Given the description of an element on the screen output the (x, y) to click on. 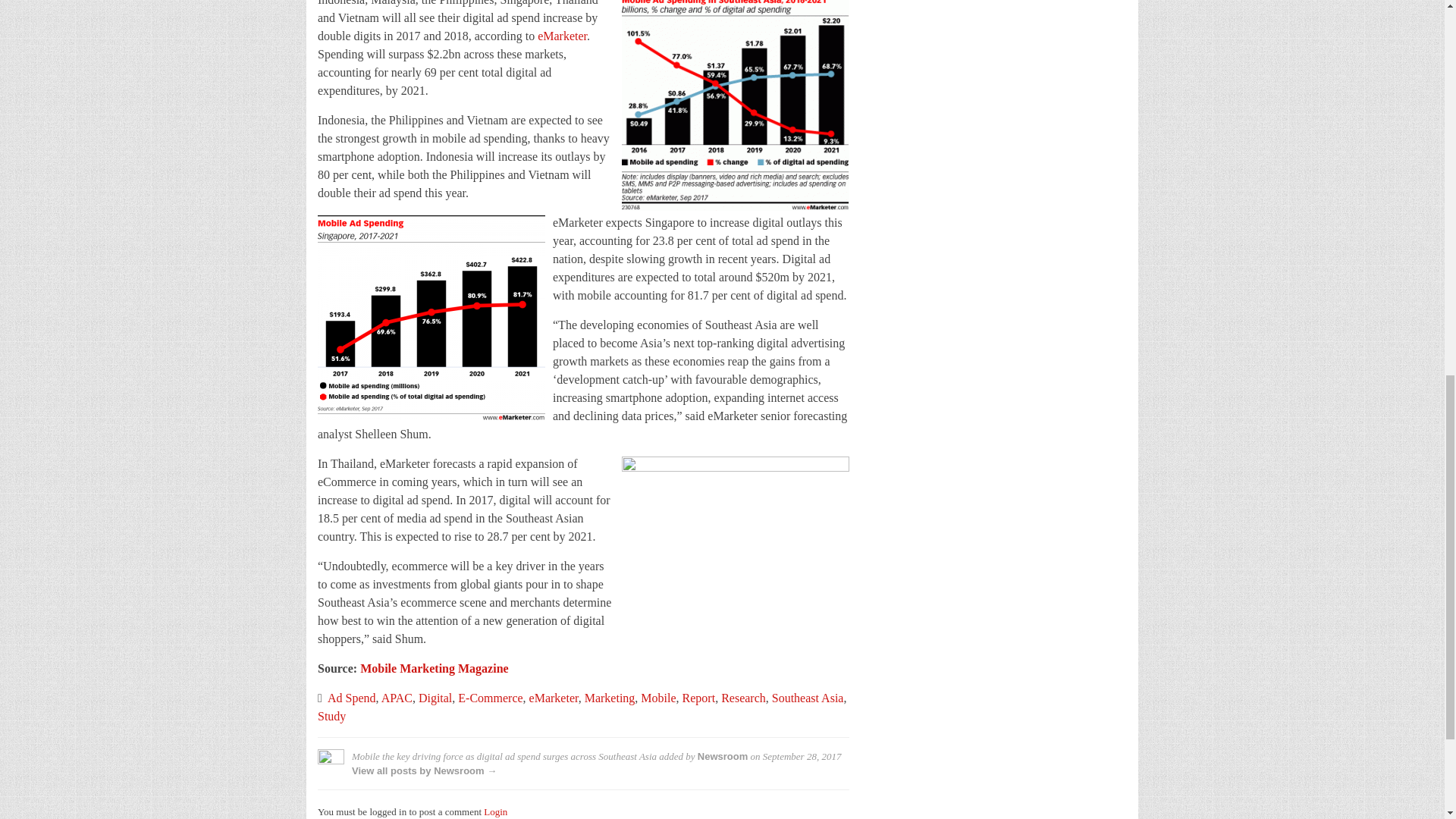
eMarketer (561, 35)
APAC (396, 697)
E-Commerce (490, 697)
Ad Spend (351, 697)
eMarketer (553, 697)
Mobile (657, 697)
Digital (435, 697)
Marketing (609, 697)
Mobile Marketing Magazine (433, 667)
